Given the description of an element on the screen output the (x, y) to click on. 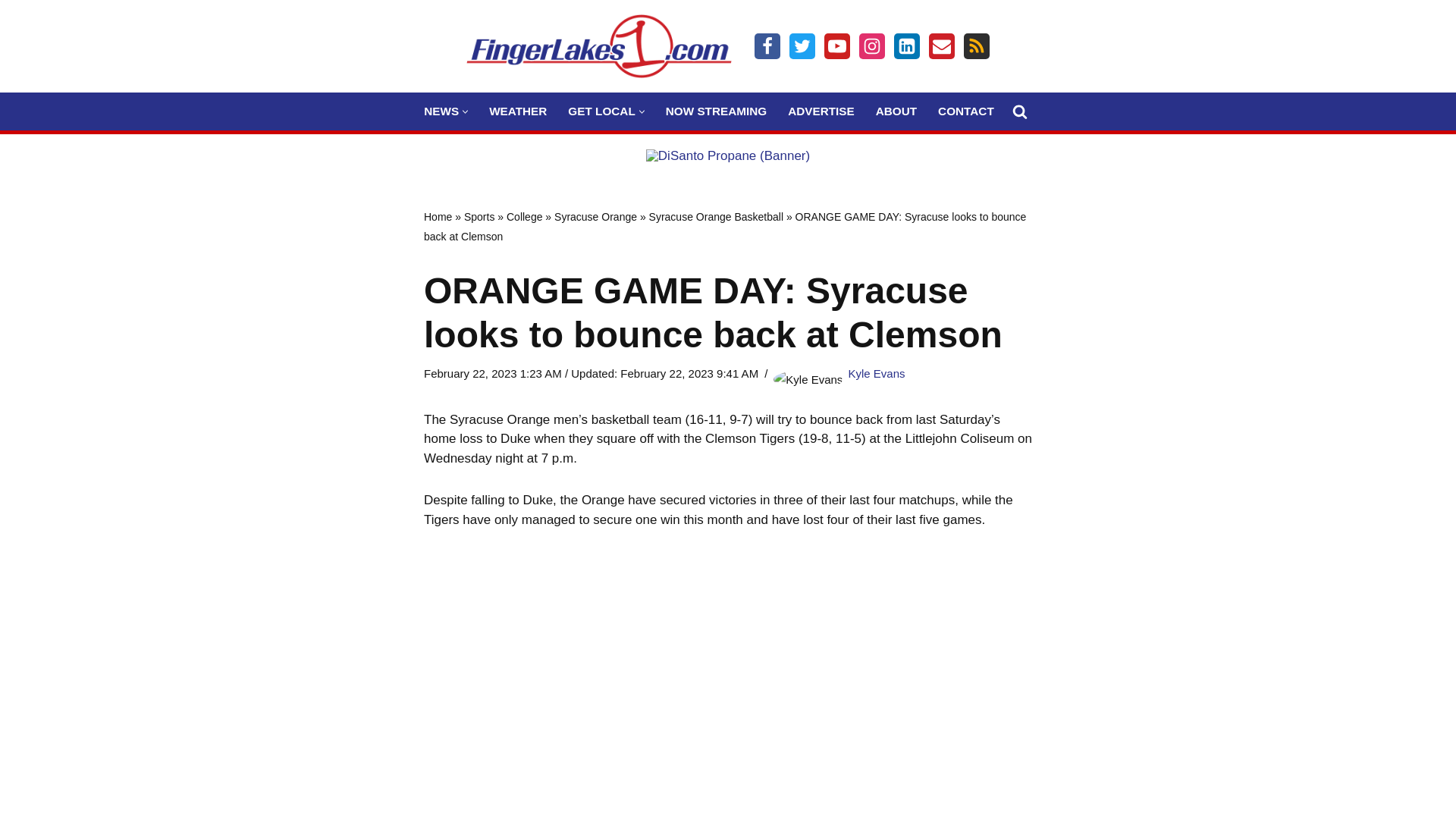
Facebook (767, 45)
ABOUT (896, 111)
NOW STREAMING (716, 111)
LinkIn (906, 45)
Twitter (802, 45)
NEWS (440, 111)
WEATHER (518, 111)
ADVERTISE (820, 111)
Skip to content (11, 31)
Email Us (941, 45)
